Given the description of an element on the screen output the (x, y) to click on. 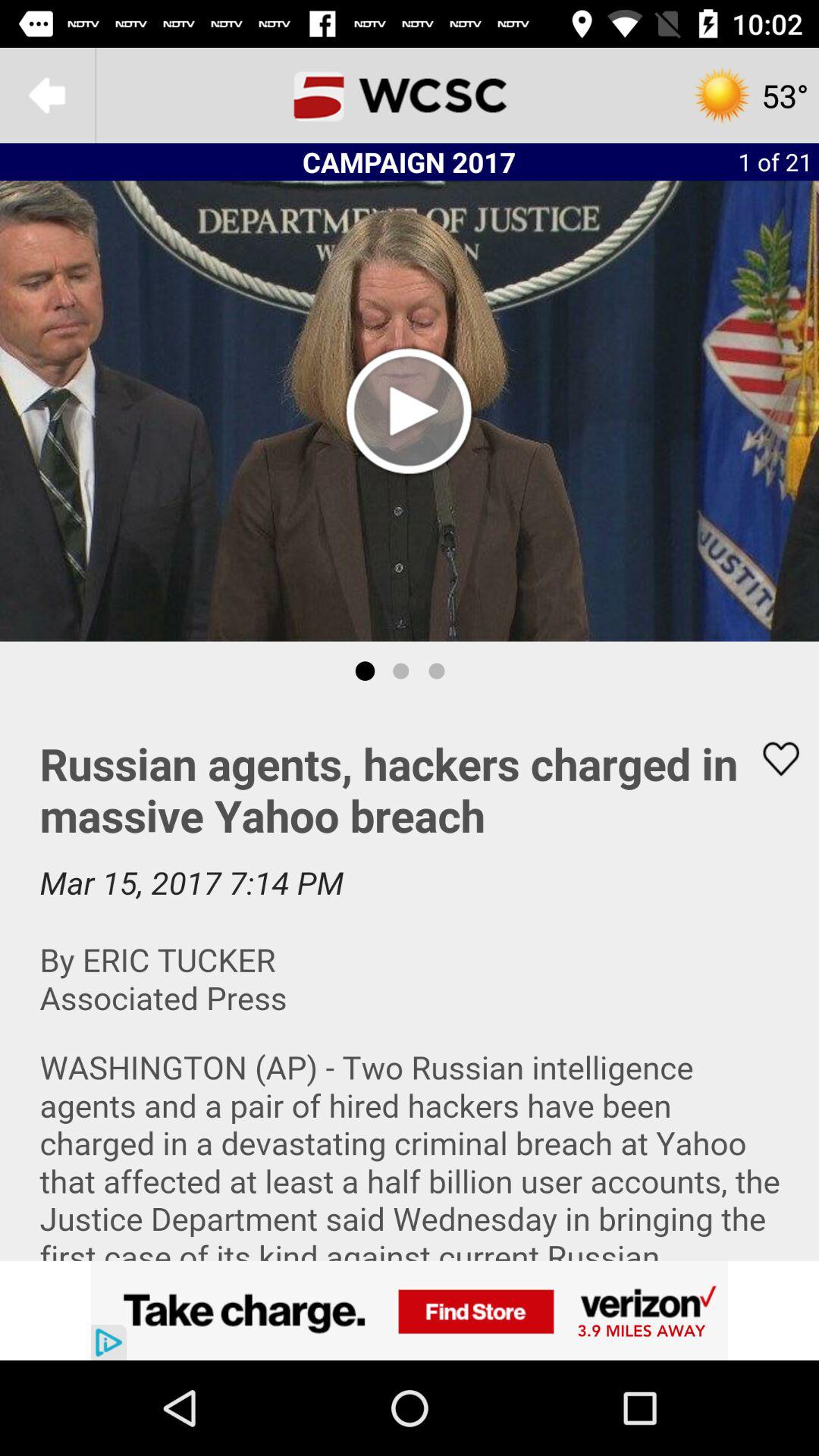
back (47, 95)
